Given the description of an element on the screen output the (x, y) to click on. 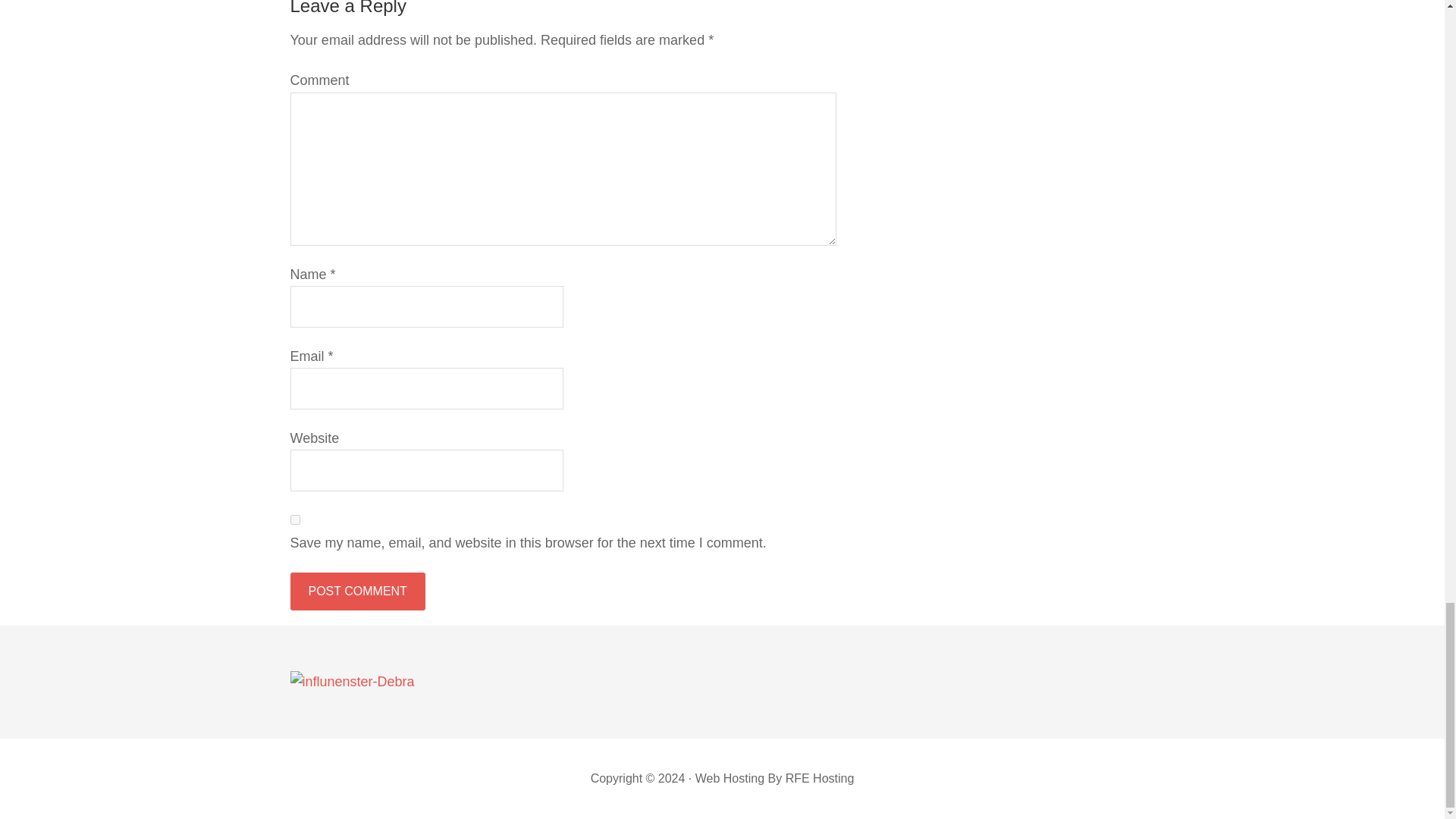
Post Comment (357, 591)
RFE Hosting (820, 778)
Web Hosting (729, 778)
RFE Hosting (820, 778)
Post Comment (357, 591)
yes (294, 519)
Web Hosting (729, 778)
